Given the description of an element on the screen output the (x, y) to click on. 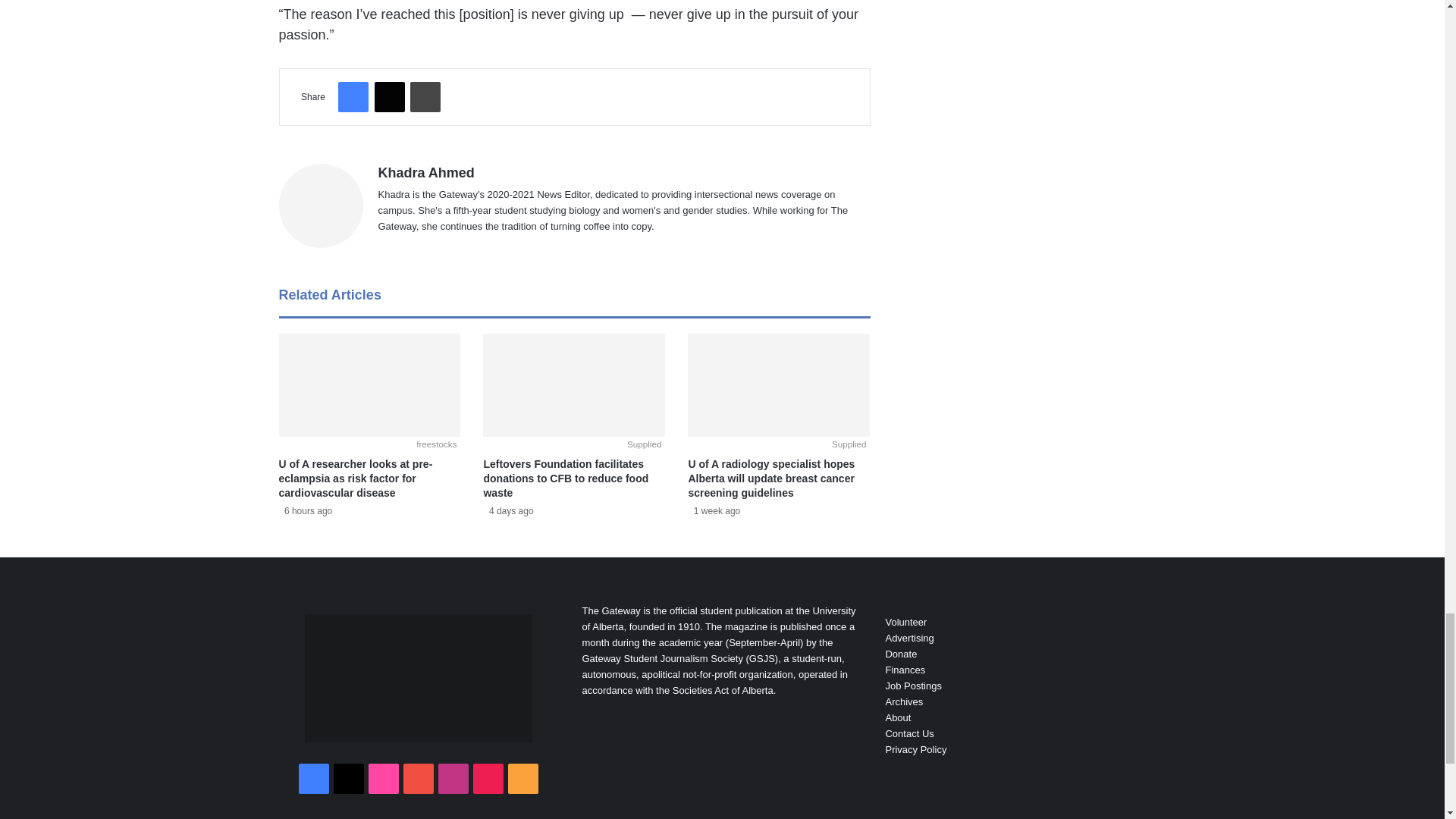
Facebook (352, 96)
Print (425, 96)
X (389, 96)
